Given the description of an element on the screen output the (x, y) to click on. 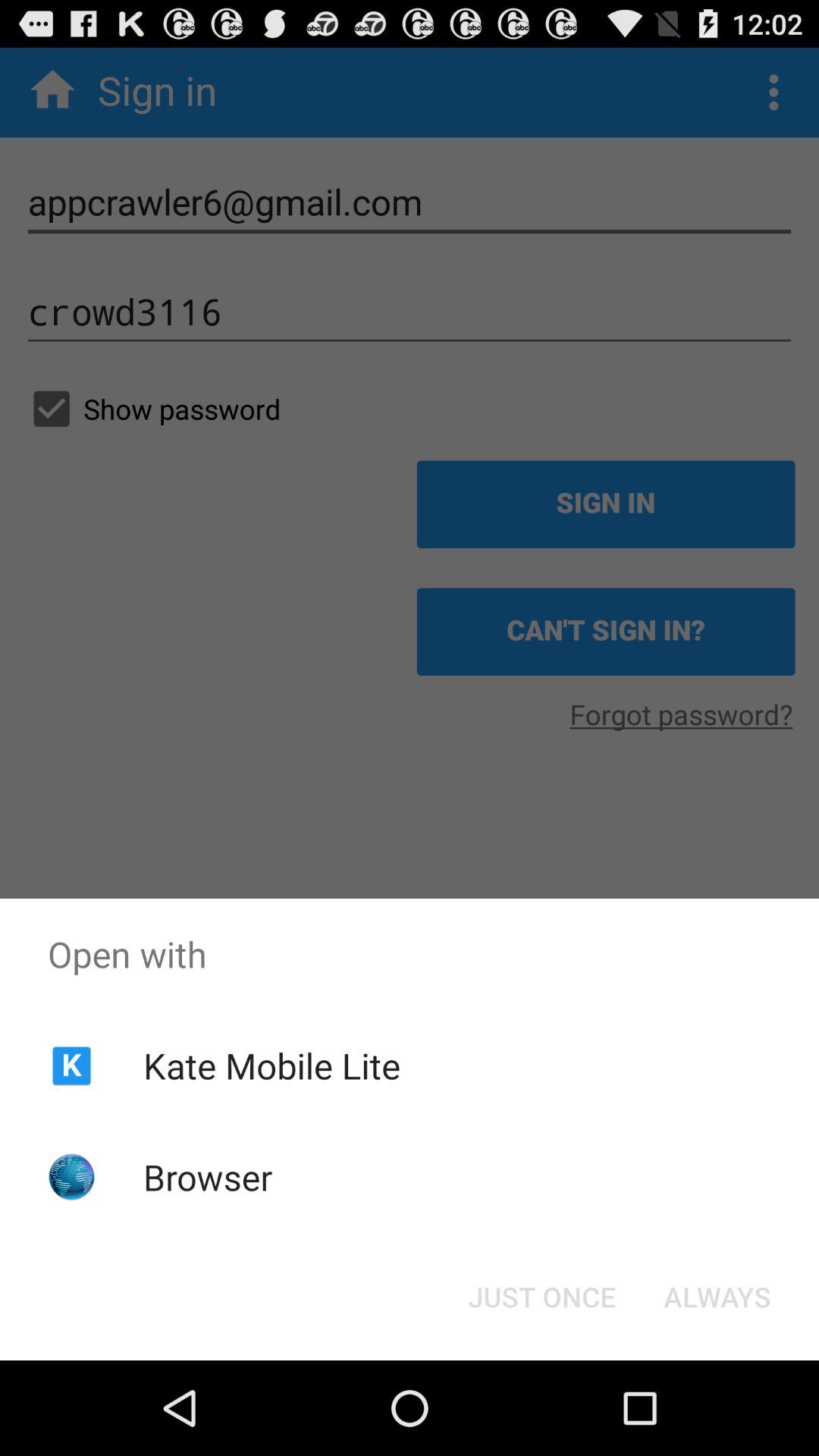
select the icon below kate mobile lite item (207, 1176)
